Given the description of an element on the screen output the (x, y) to click on. 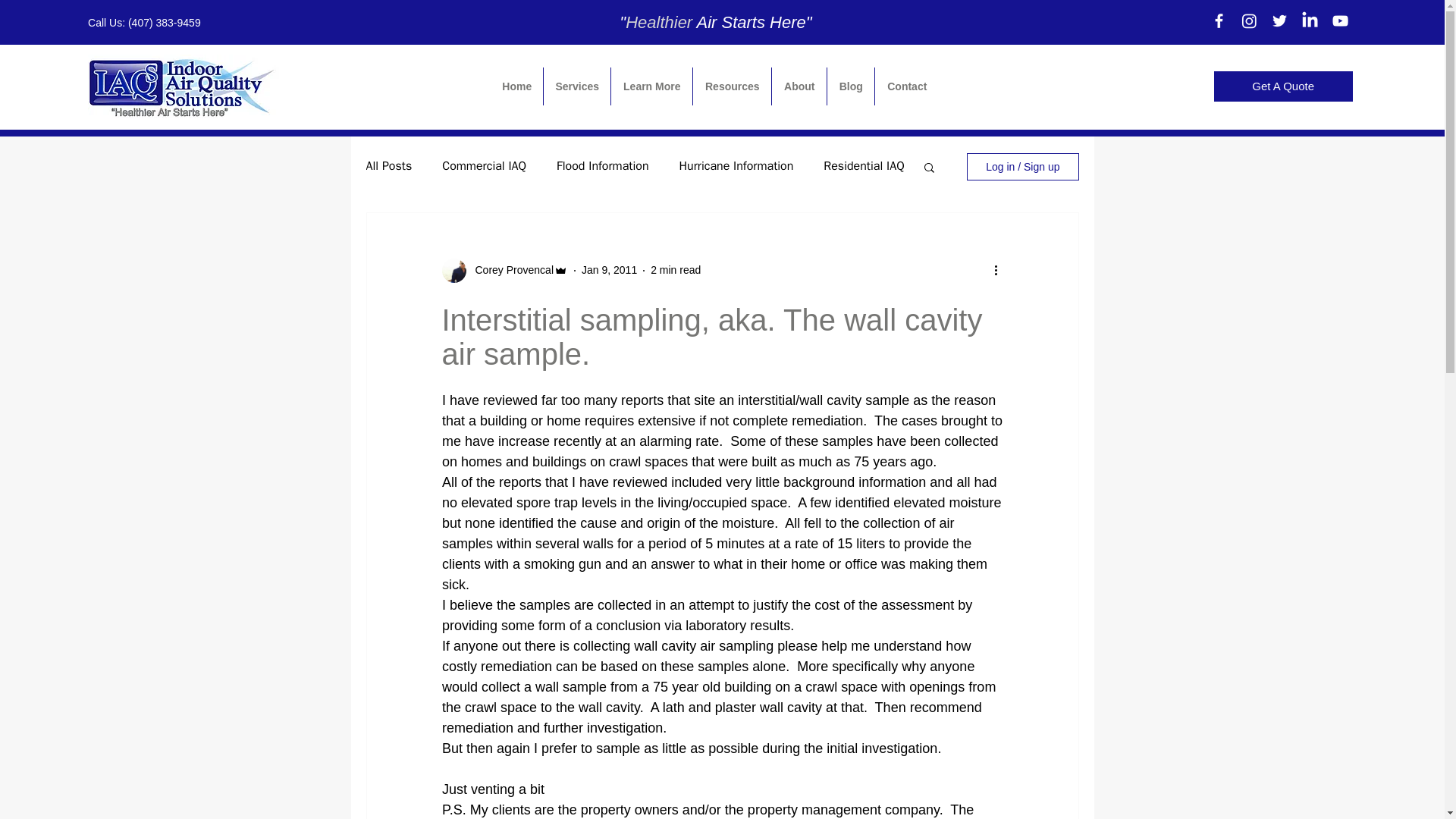
About (799, 86)
Home (516, 86)
Commercial IAQ (483, 166)
Blog (851, 86)
Flood Information (601, 166)
Get A Quote (1283, 86)
2 min read (675, 269)
Corey Provencal (509, 270)
Jan 9, 2011 (608, 269)
Hurricane Information (736, 166)
